Given the description of an element on the screen output the (x, y) to click on. 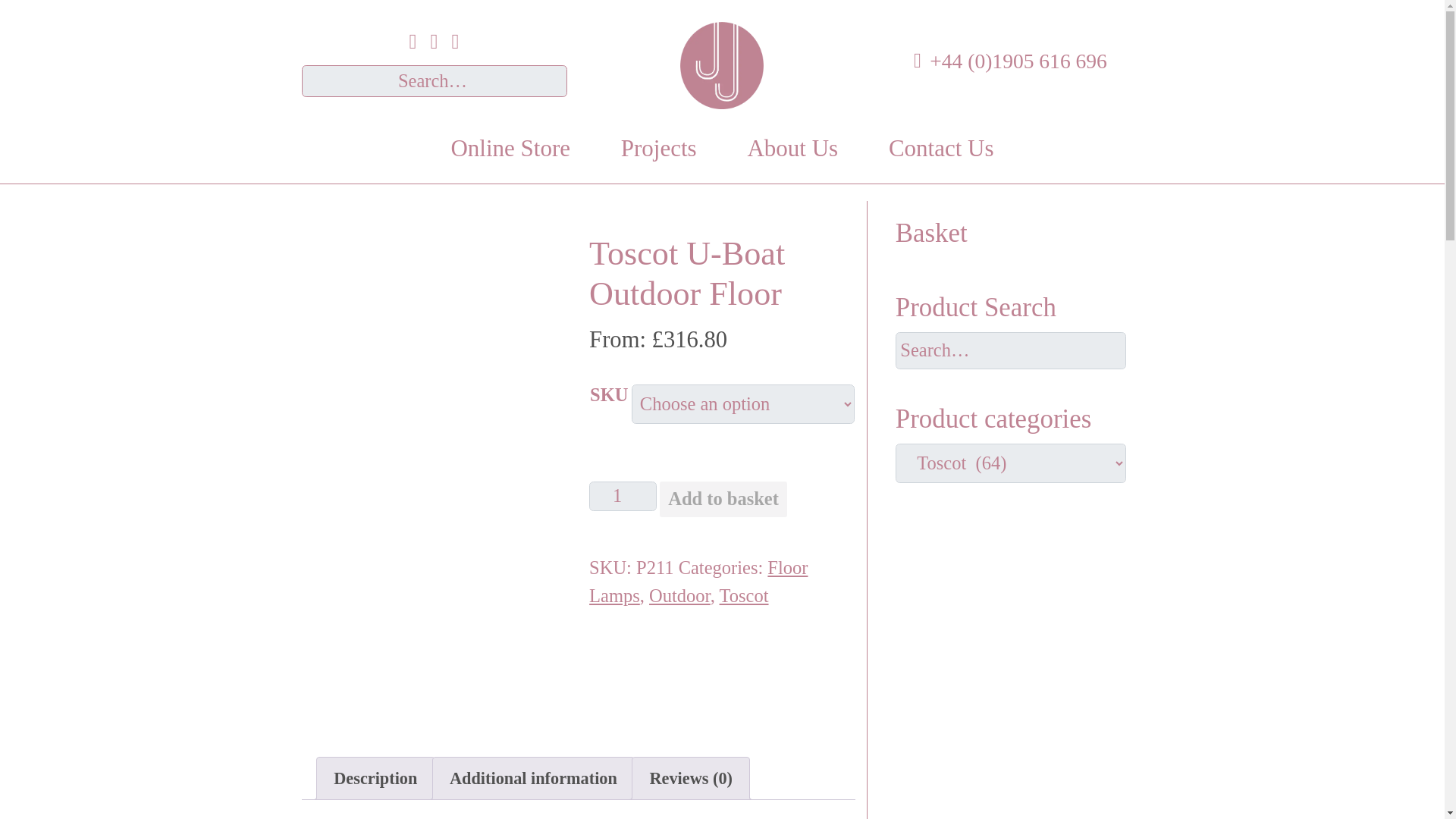
Outdoor (679, 595)
Contact Us (941, 149)
Add to basket (723, 498)
Toscot (743, 595)
Floor Lamps (698, 581)
Contact Us (941, 149)
1 (622, 496)
Projects (658, 149)
Additional information (533, 778)
